Given the description of an element on the screen output the (x, y) to click on. 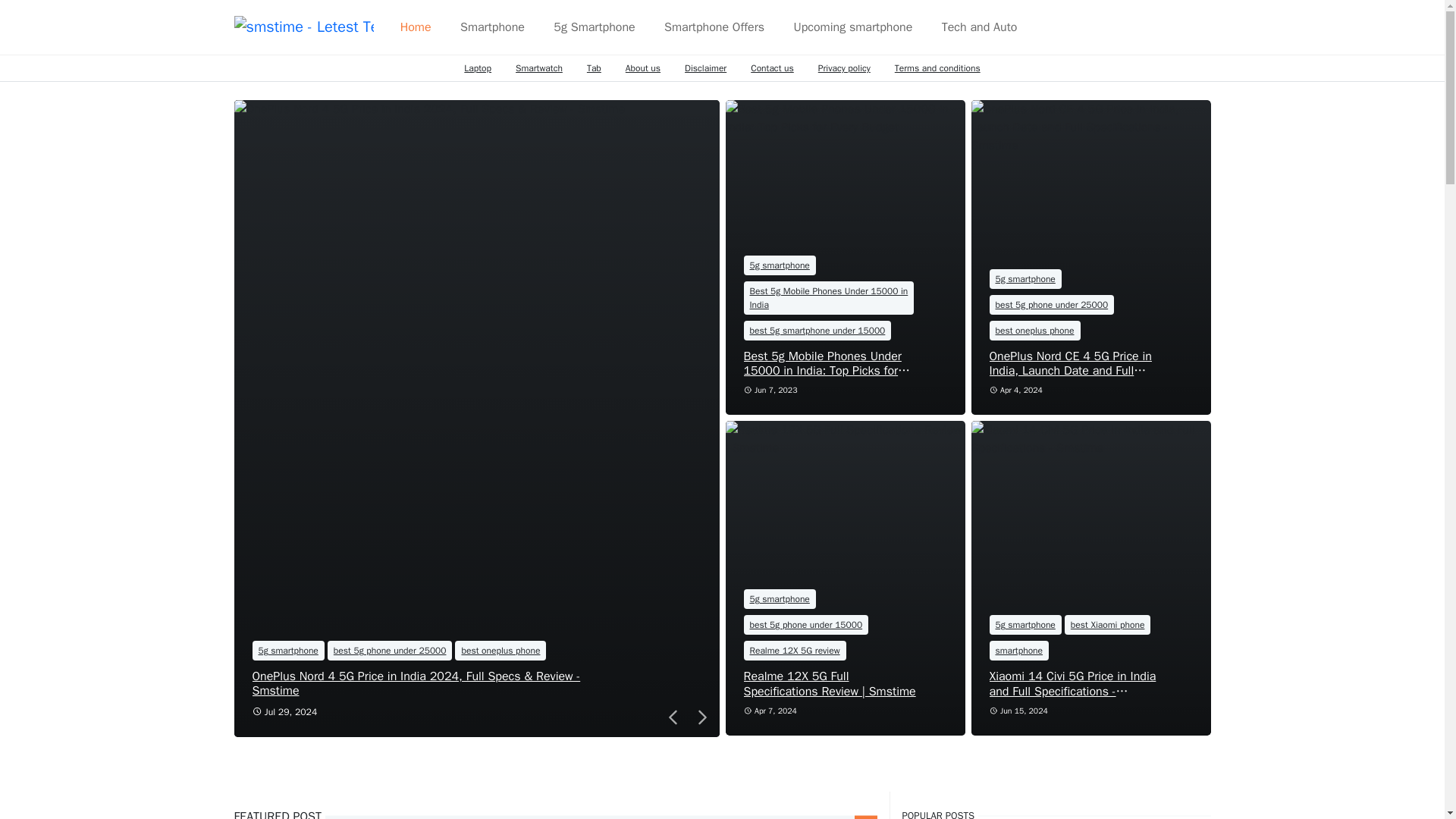
Upcoming smartphone (852, 27)
5g smartphone (287, 650)
5g smartphone (778, 265)
Smartphone Offers (713, 27)
Privacy policy (844, 68)
best oneplus phone (1034, 330)
Smartphone (491, 27)
best 5g phone under 15000 (804, 624)
